Given the description of an element on the screen output the (x, y) to click on. 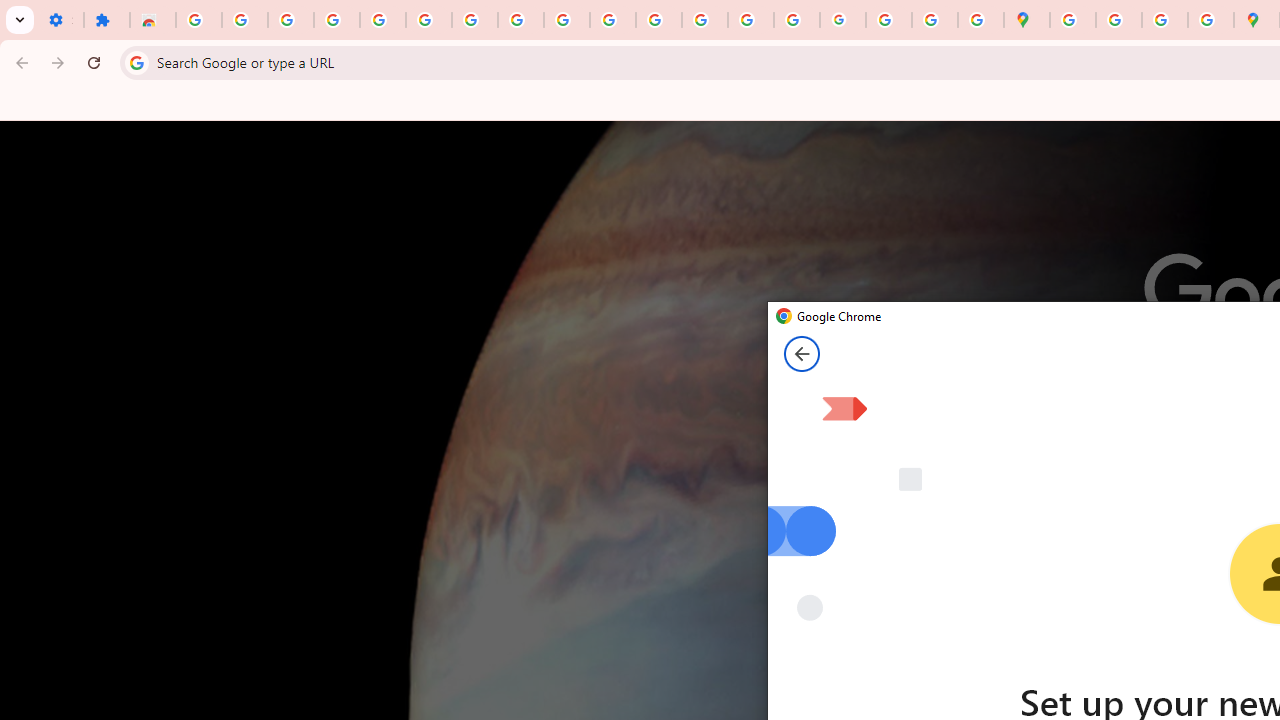
Delete photos & videos - Computer - Google Photos Help (290, 20)
Reviews: Helix Fruit Jump Arcade Game (153, 20)
Back from Set up your new Chrome profile page (801, 354)
YouTube (567, 20)
Google Account (520, 20)
Settings - On startup (60, 20)
